Given the description of an element on the screen output the (x, y) to click on. 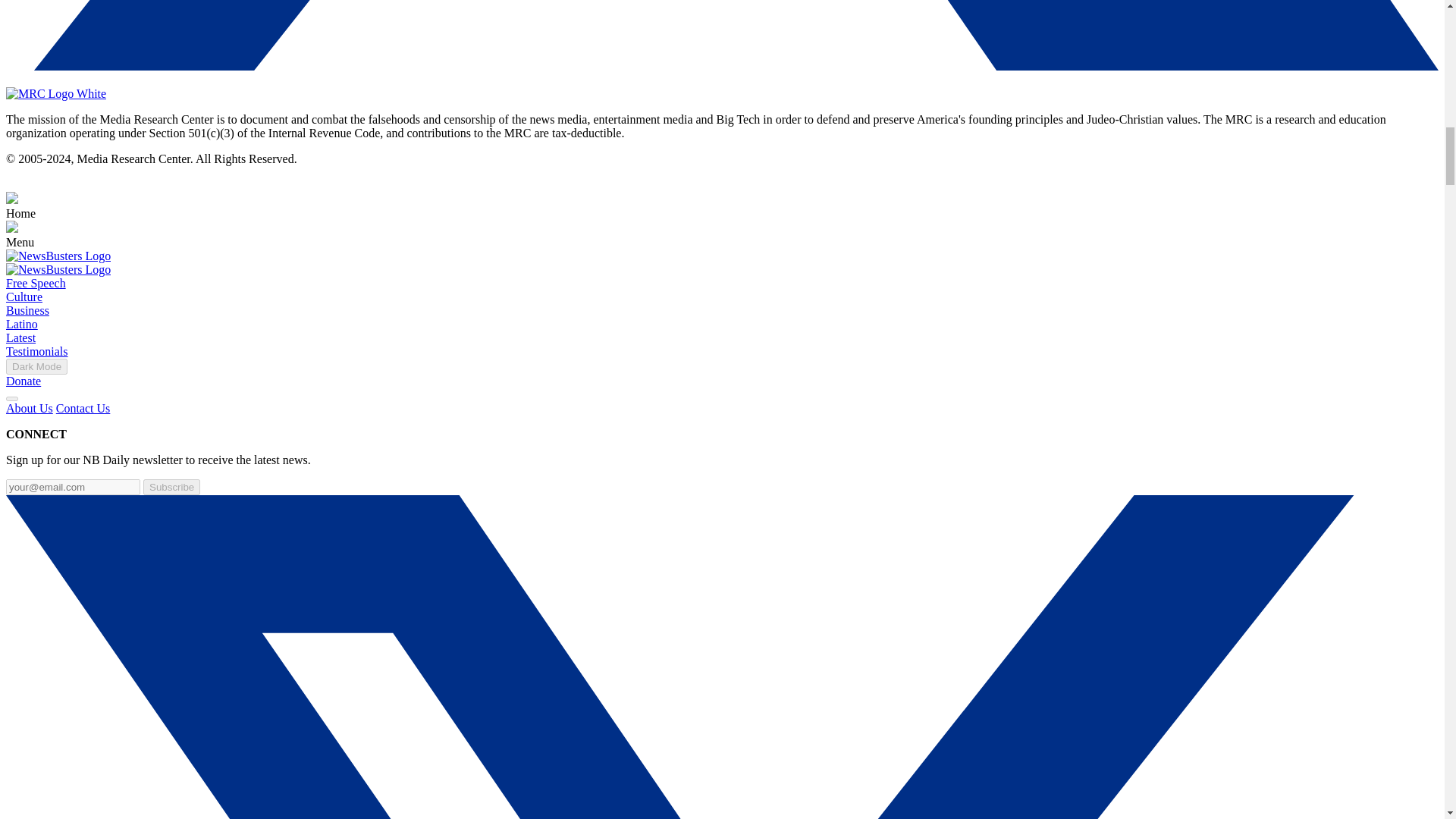
About Us (28, 408)
Donate (22, 380)
Subscribe (171, 487)
Contact Us (83, 408)
Dark Mode (35, 366)
Testimonials (36, 350)
